Given the description of an element on the screen output the (x, y) to click on. 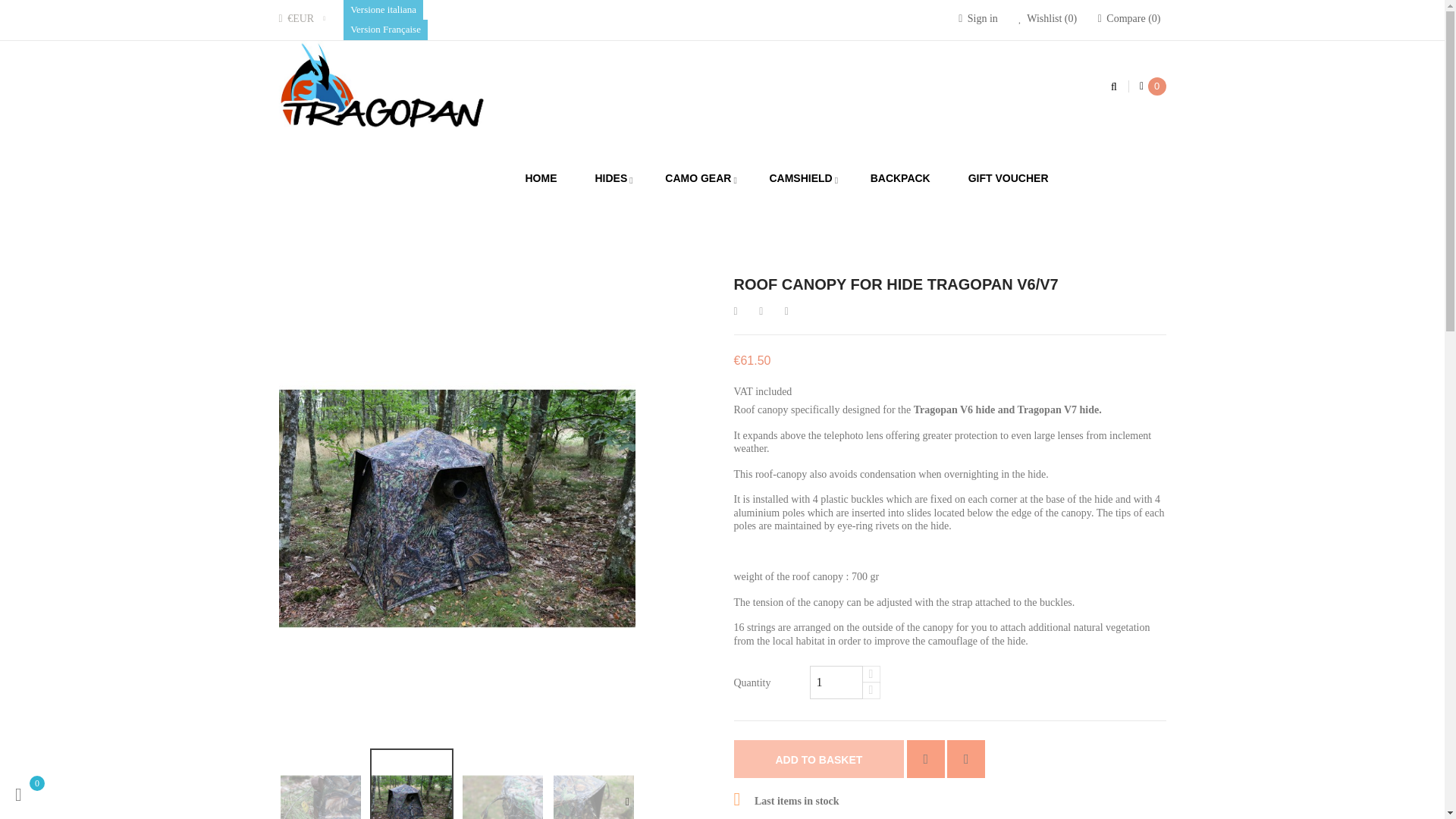
Sign in (977, 18)
BACKPACK (900, 178)
Log in to your customer account (977, 18)
HIDES TRAGOPAN (620, 230)
CAMSHIELD (799, 178)
Compare (1128, 18)
Wishlist (1047, 18)
ACCESSORIES (722, 230)
1 (836, 682)
PHOTO HIDES (521, 230)
Currency (302, 18)
Wishlist 0 (1047, 18)
HOME (452, 230)
GIFT VOUCHER (1008, 178)
CAMO GEAR (697, 178)
